Given the description of an element on the screen output the (x, y) to click on. 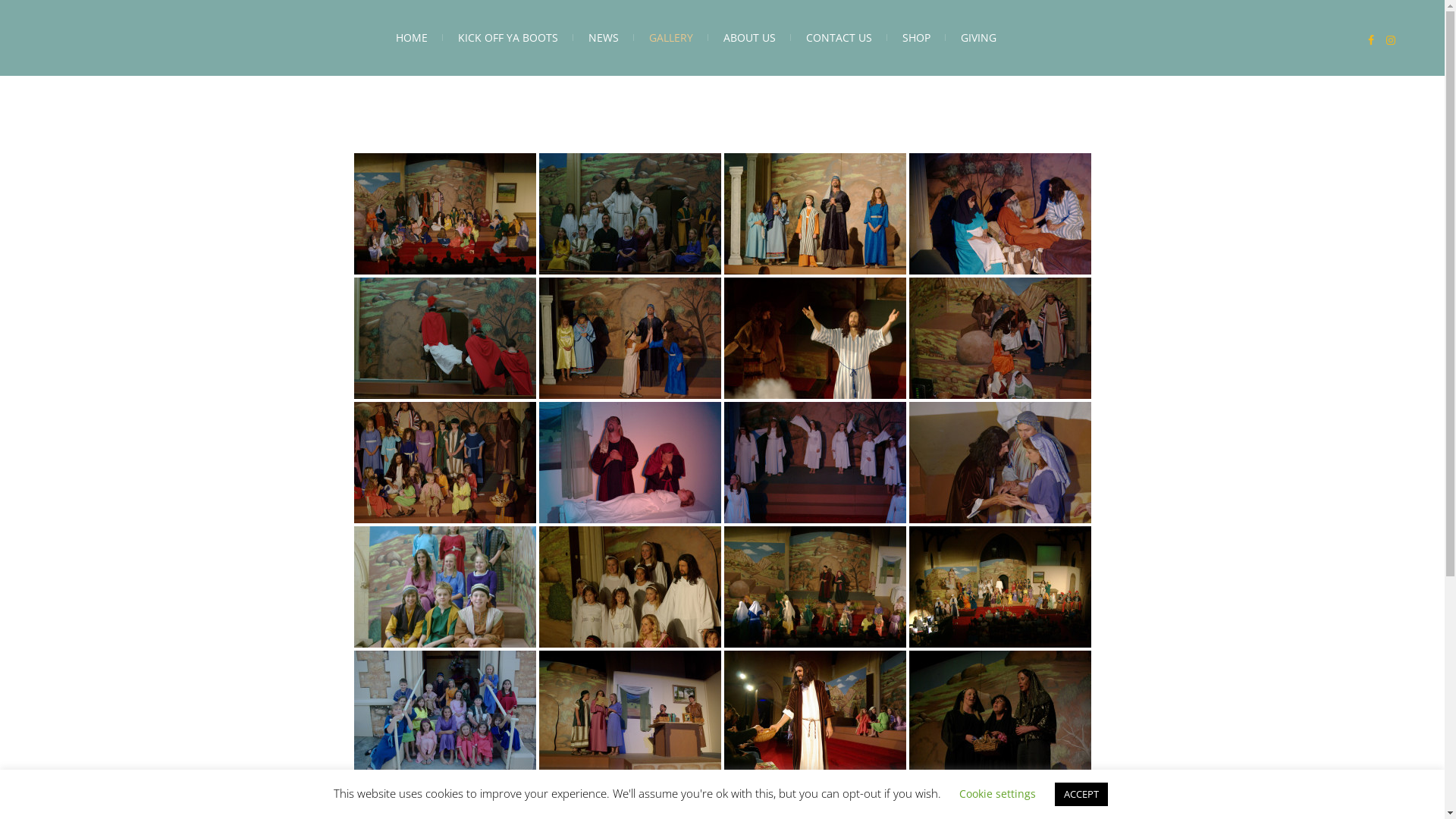
IMGP4529 Element type: hover (629, 462)
NEWS Element type: text (603, 37)
IMGP4425 Element type: hover (999, 337)
IMGP4319 Element type: hover (629, 337)
IMGP5283 Element type: hover (629, 586)
Facebook Element type: hover (1370, 39)
IMGP4709 Element type: hover (814, 586)
Cookie settings Element type: text (996, 793)
IMGP4248 Element type: hover (814, 213)
IMGP4540 Element type: hover (814, 462)
IMGP4927 Element type: hover (629, 710)
IMGP4492 Element type: hover (444, 462)
ACCEPT Element type: text (1080, 794)
IMGP4356 Element type: hover (814, 337)
IMGP4128 Element type: hover (444, 586)
IMGP4221 Element type: hover (629, 213)
GIVING Element type: text (977, 37)
IMGP4178 Element type: hover (444, 337)
CONTACT US Element type: text (838, 37)
KICK OFF YA BOOTS Element type: text (507, 37)
IMGP4690 Element type: hover (444, 213)
IMGP5008 Element type: hover (999, 710)
ABOUT US Element type: text (749, 37)
IMGP4963 Element type: hover (814, 710)
IMGP4774 Element type: hover (444, 710)
GALLERY Element type: text (670, 37)
SHOP Element type: text (916, 37)
IMGP4562 Element type: hover (999, 462)
HOME Element type: text (411, 37)
IMGP4745 Element type: hover (999, 586)
IMGP4282 Element type: hover (999, 213)
